Given the description of an element on the screen output the (x, y) to click on. 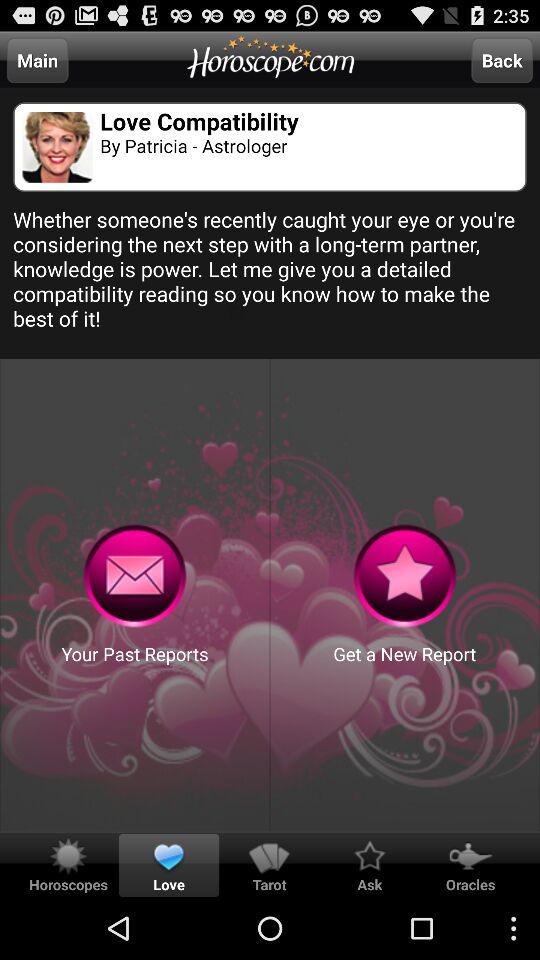
to view past reports (134, 575)
